Given the description of an element on the screen output the (x, y) to click on. 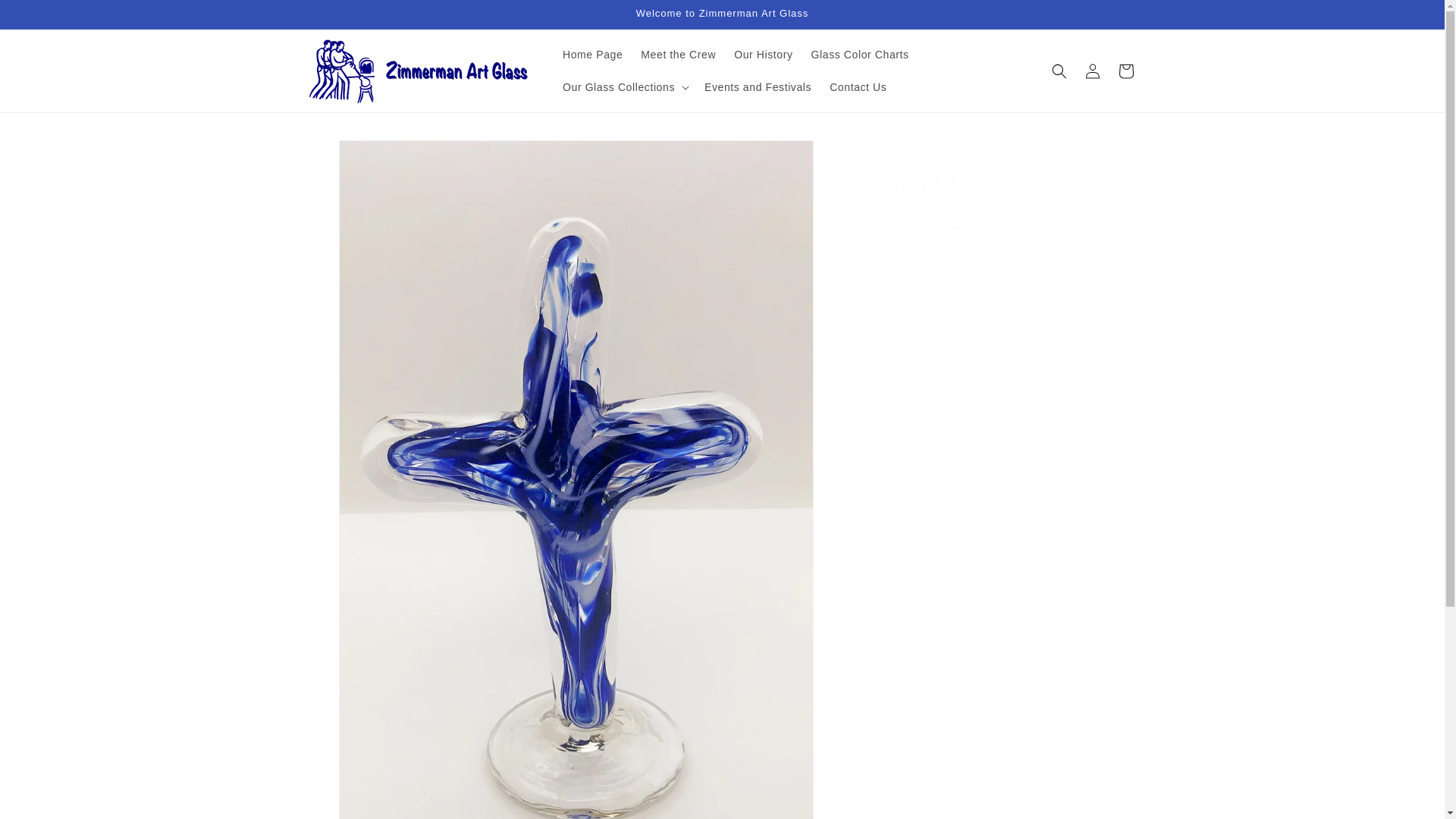
Our History (763, 54)
Skip to content (45, 17)
Meet the Crew (678, 54)
Contact Us (858, 87)
Glass Color Charts (860, 54)
Home Page (592, 54)
Events and Festivals (758, 87)
